Given the description of an element on the screen output the (x, y) to click on. 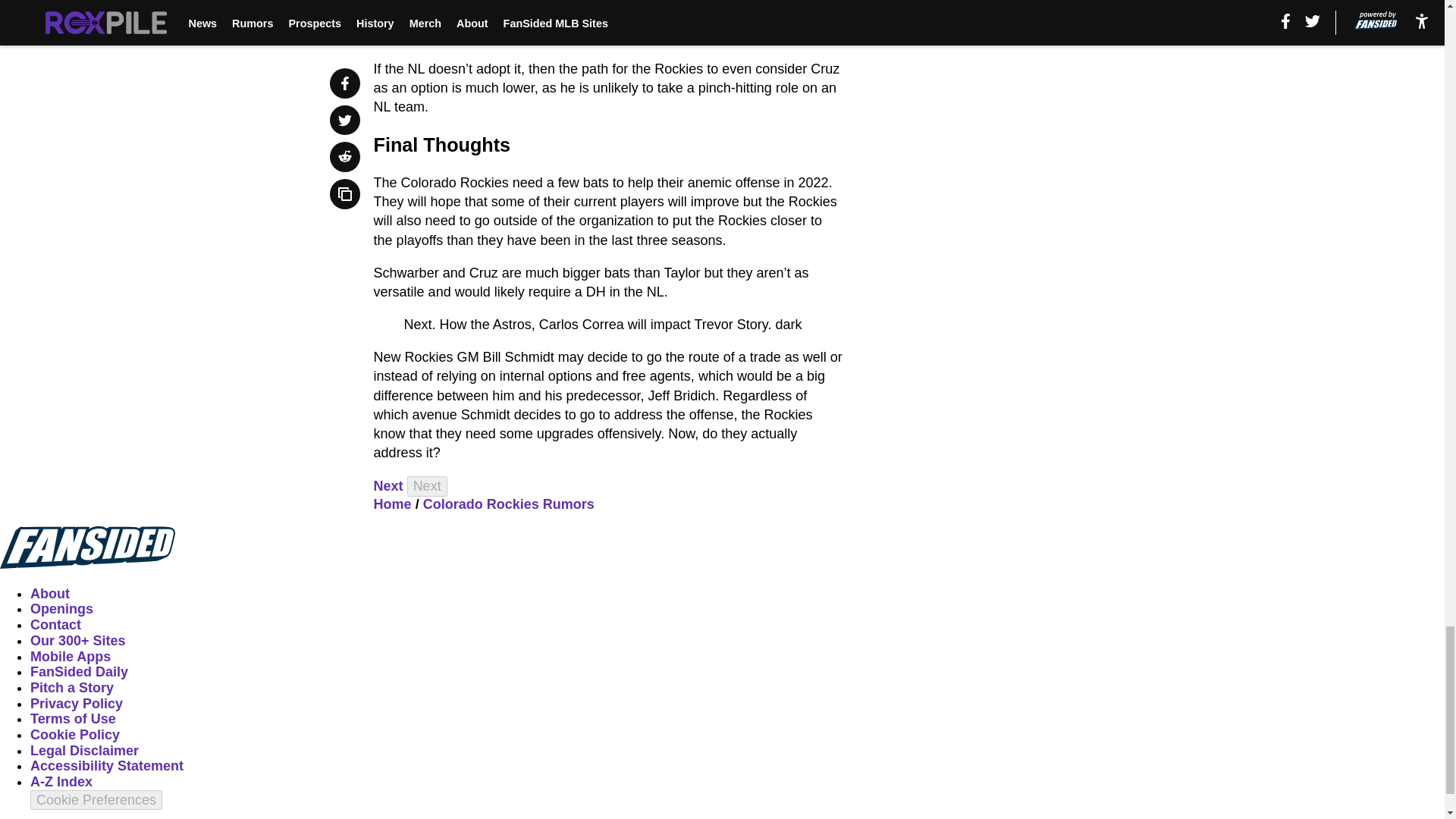
Next (388, 485)
Next (426, 485)
Colorado Rockies Rumors (508, 503)
Home (393, 503)
played a combined 10 games (583, 2)
